Given the description of an element on the screen output the (x, y) to click on. 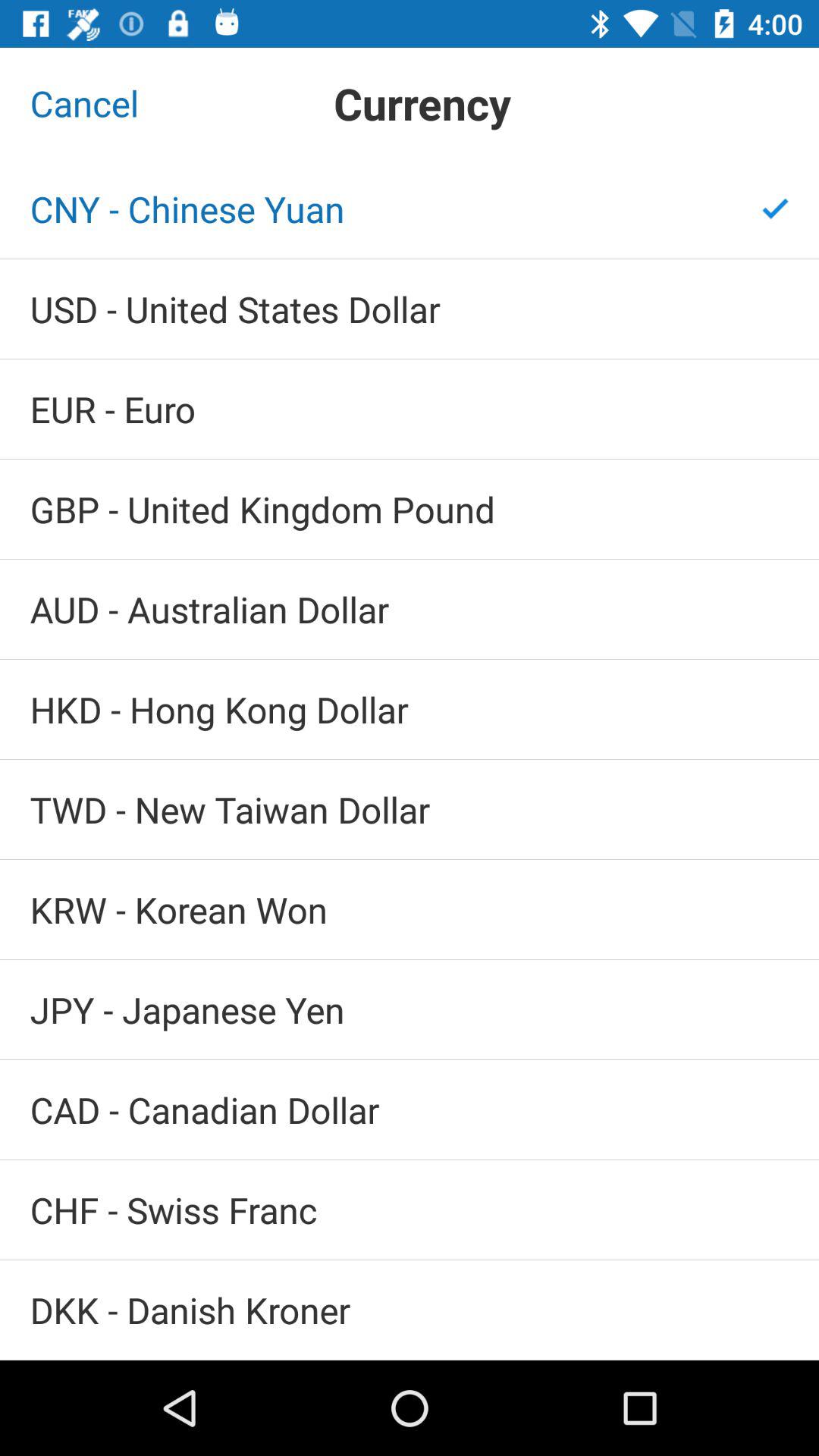
click eur - euro item (409, 408)
